Given the description of an element on the screen output the (x, y) to click on. 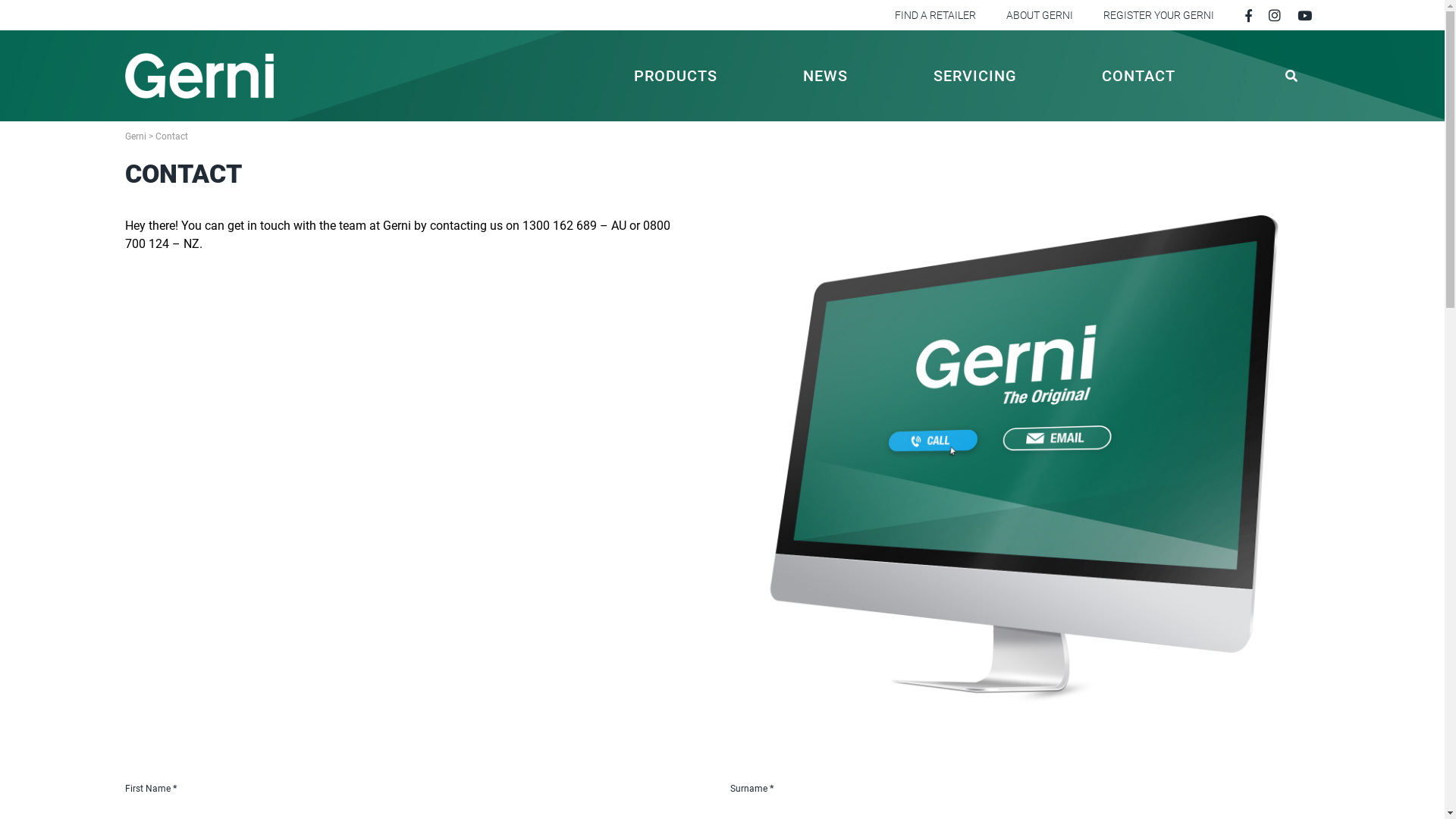
PRODUCTS Element type: text (675, 75)
Gerni Element type: text (134, 136)
REGISTER YOUR GERNI Element type: text (1157, 15)
FIND A RETAILER Element type: text (935, 15)
CONTACT Element type: text (1138, 75)
NEWS Element type: text (825, 75)
SERVICING Element type: text (974, 75)
ABOUT GERNI Element type: text (1038, 15)
